Given the description of an element on the screen output the (x, y) to click on. 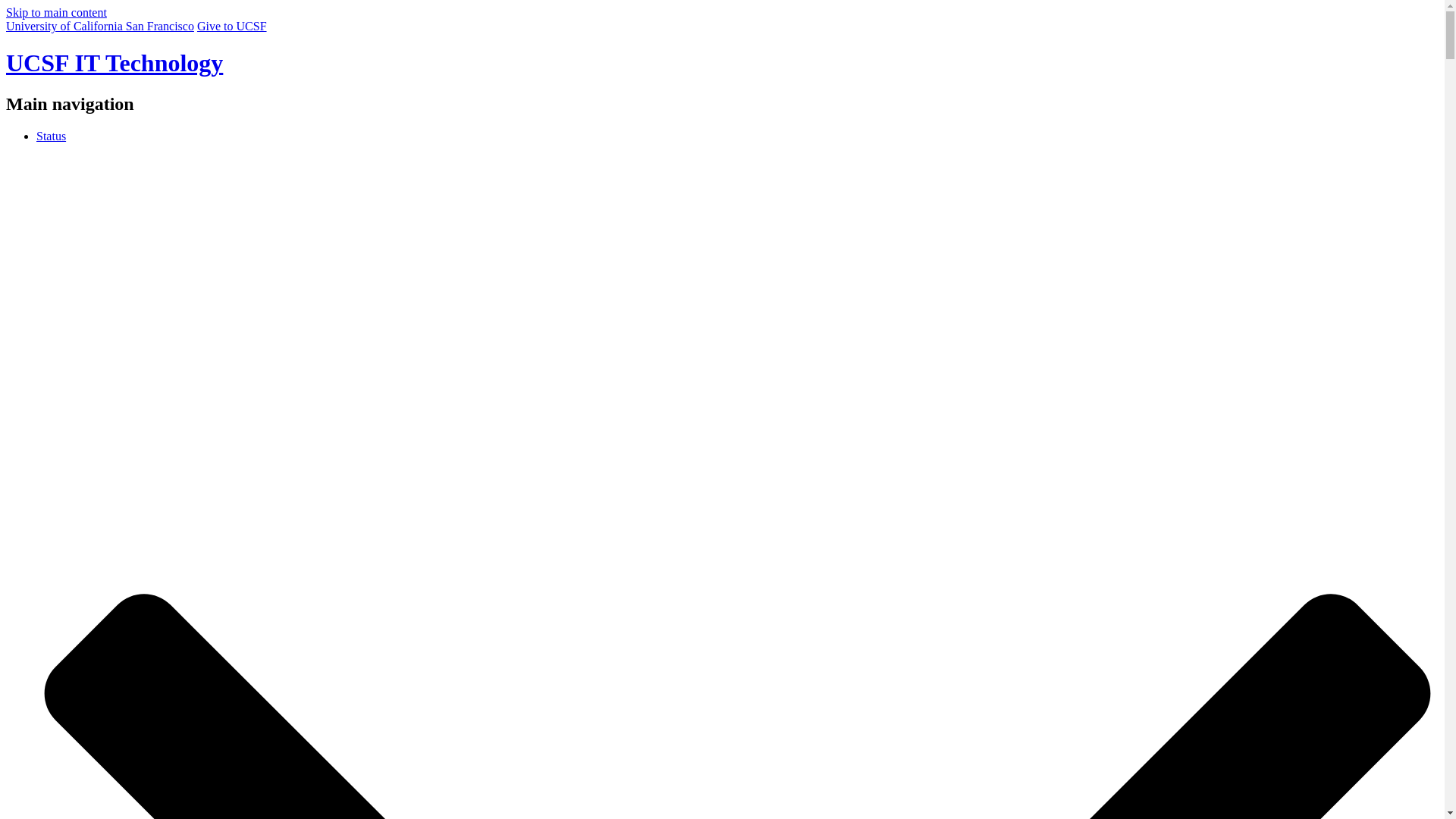
Skip to main content (55, 11)
Give to UCSF (231, 25)
Status (50, 135)
University of California San Francisco (99, 25)
